Given the description of an element on the screen output the (x, y) to click on. 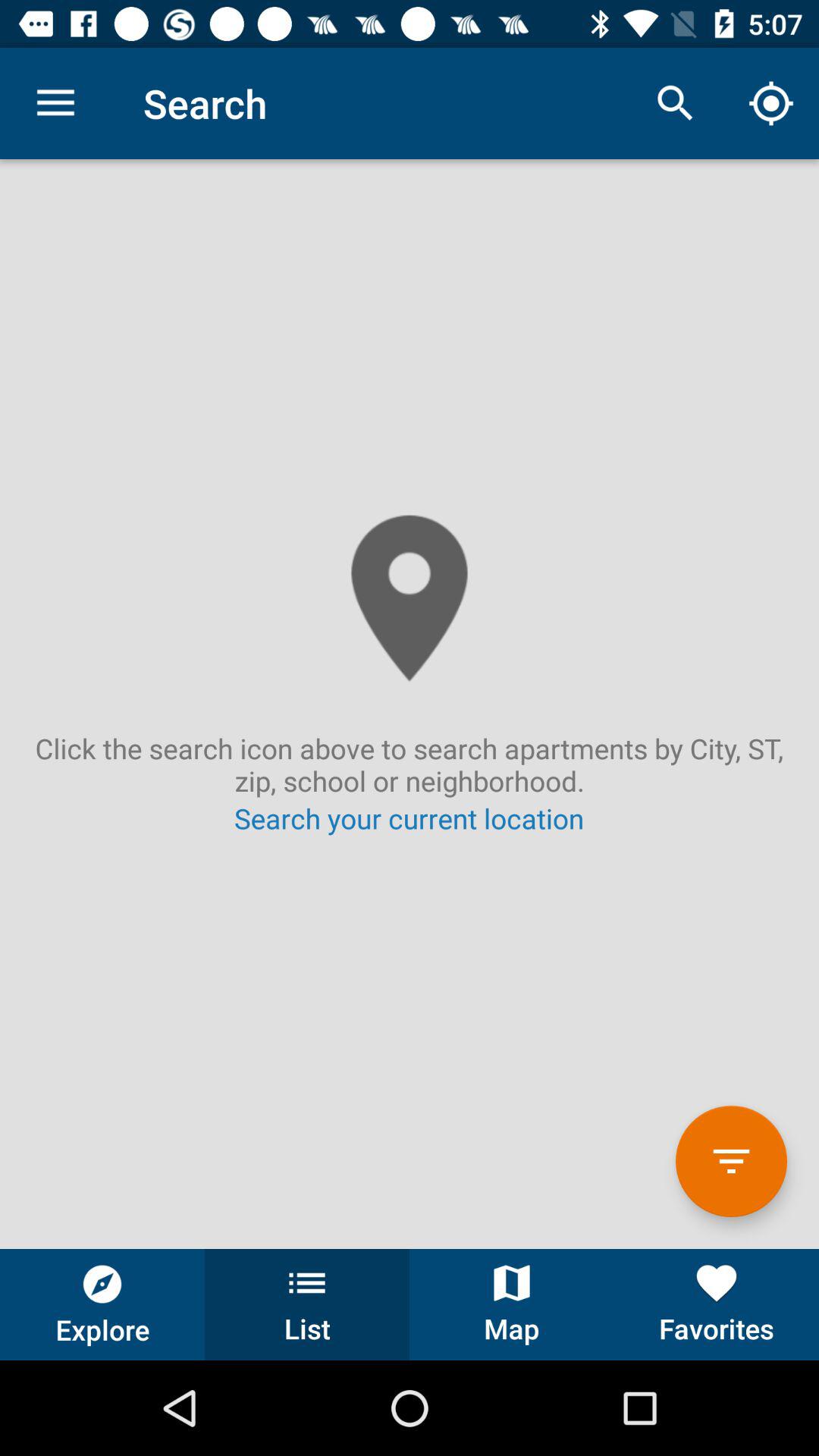
more button (731, 1161)
